Given the description of an element on the screen output the (x, y) to click on. 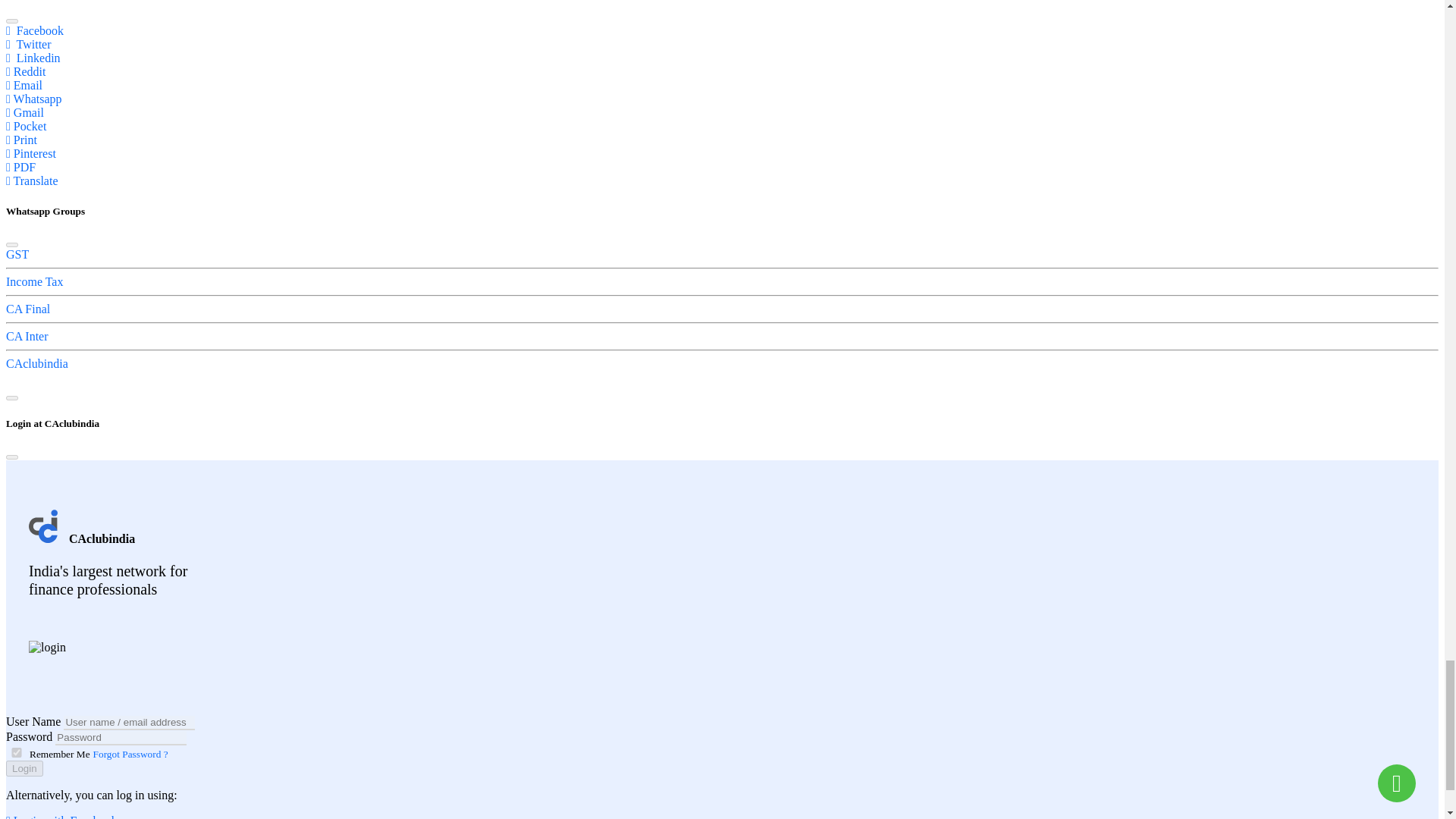
Login (24, 768)
1 (16, 752)
